Given the description of an element on the screen output the (x, y) to click on. 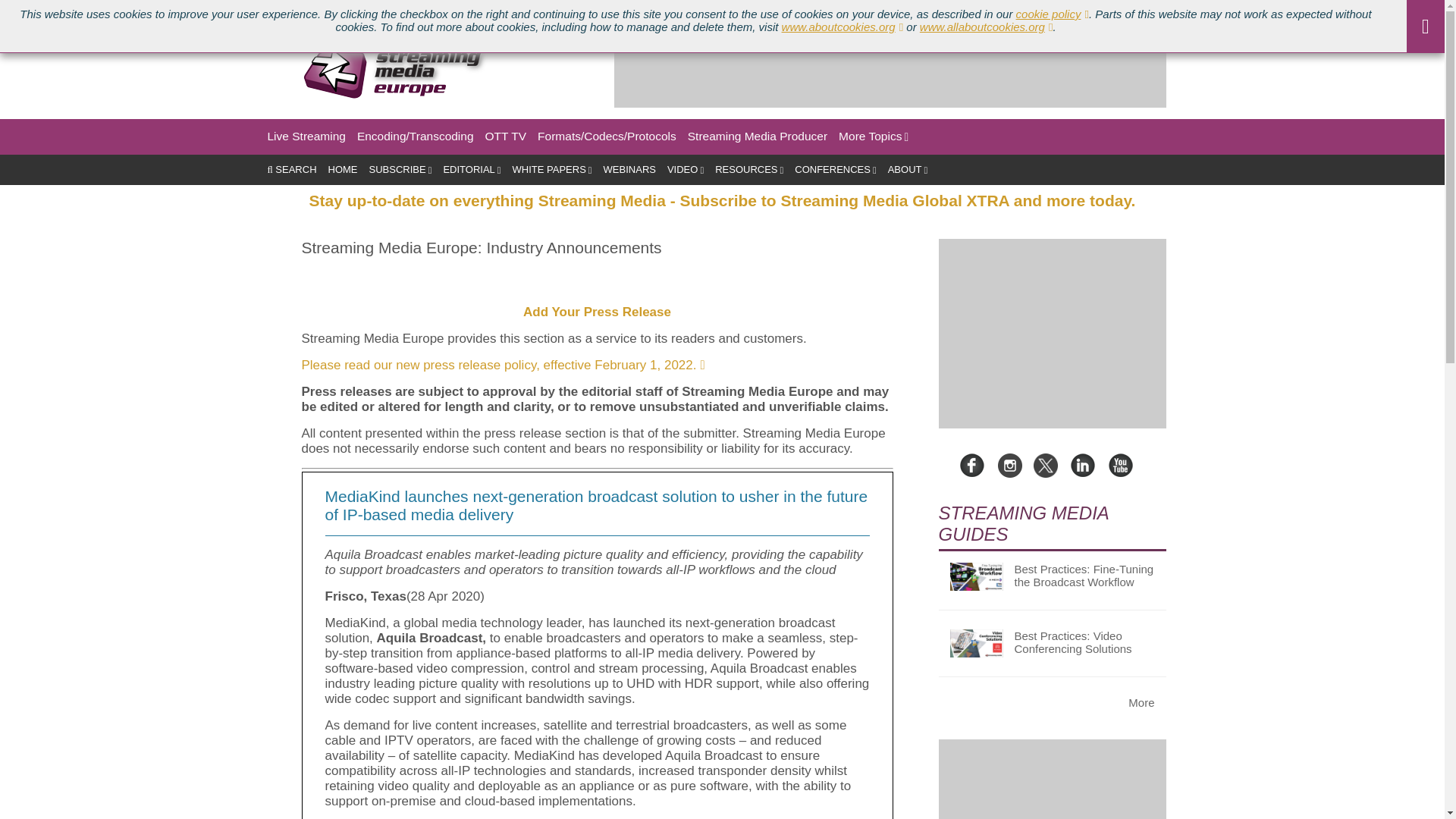
Live Streaming (305, 136)
Live Streaming (305, 136)
PRODUCER (100, 10)
SOURCEBOOK (507, 10)
www.allaboutcookies.org (986, 26)
OTT TV (505, 136)
3rd party ad content (890, 73)
SUBSCRIBE (400, 169)
More Topics (873, 136)
STREAMING MEDIA NYC (394, 10)
OTT TV (505, 136)
cookie policy (1052, 13)
EDITORIAL (471, 169)
Streaming Media Producer (757, 136)
Streaming Media Connect 2024 (232, 10)
